Given the description of an element on the screen output the (x, y) to click on. 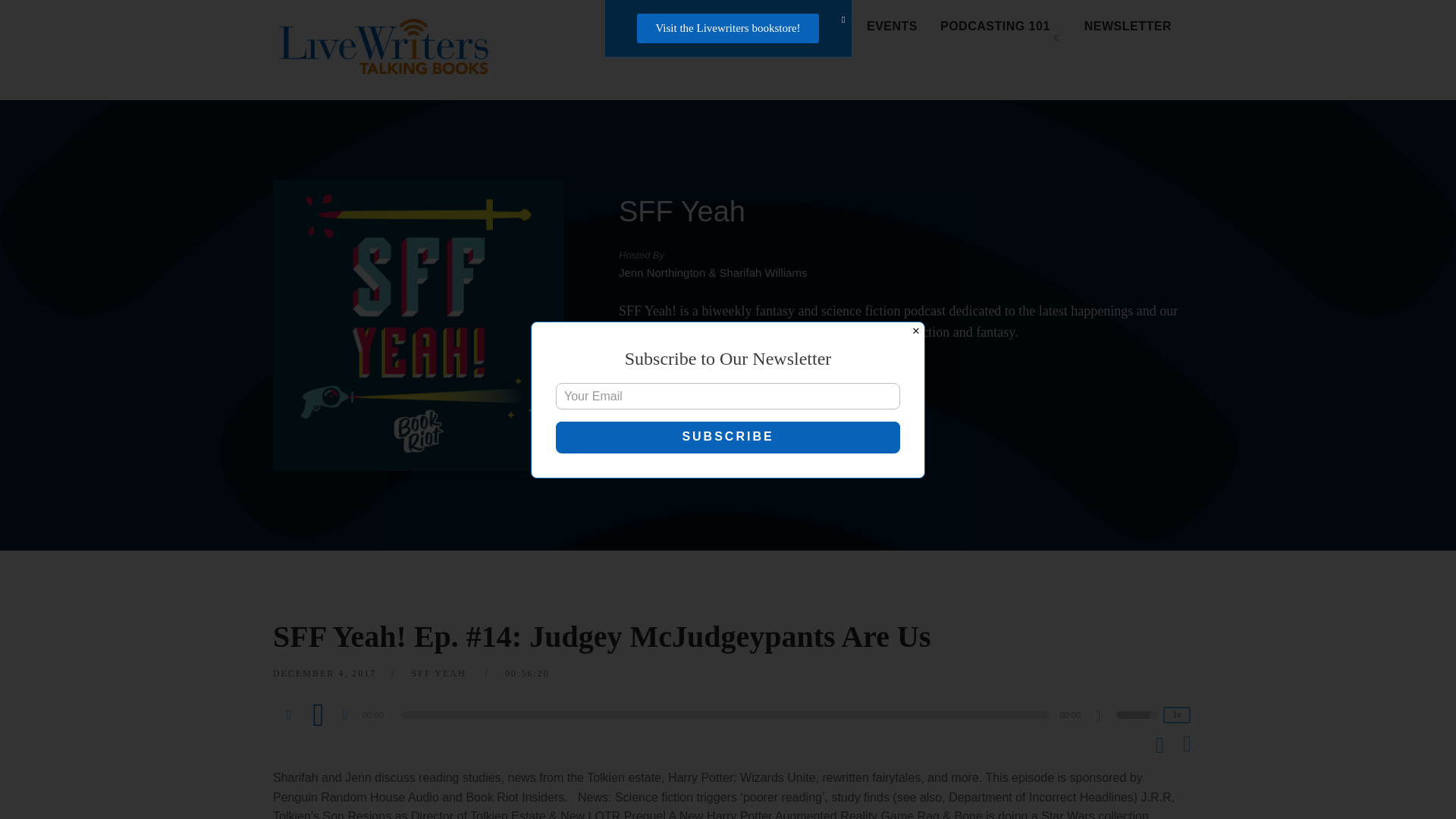
LiveWriters (386, 49)
NEWSLETTER (1127, 26)
EVENTS (892, 26)
SFF Yeah (681, 211)
PODCASTS (734, 26)
SUBSCRIBE (819, 381)
Play (317, 714)
WEBSITE (677, 381)
Speed Rate (1177, 714)
HOME (652, 26)
PODCASTING 101 (1000, 26)
Subscribe (727, 436)
Mute (1104, 717)
ABOUT (821, 26)
